Given the description of an element on the screen output the (x, y) to click on. 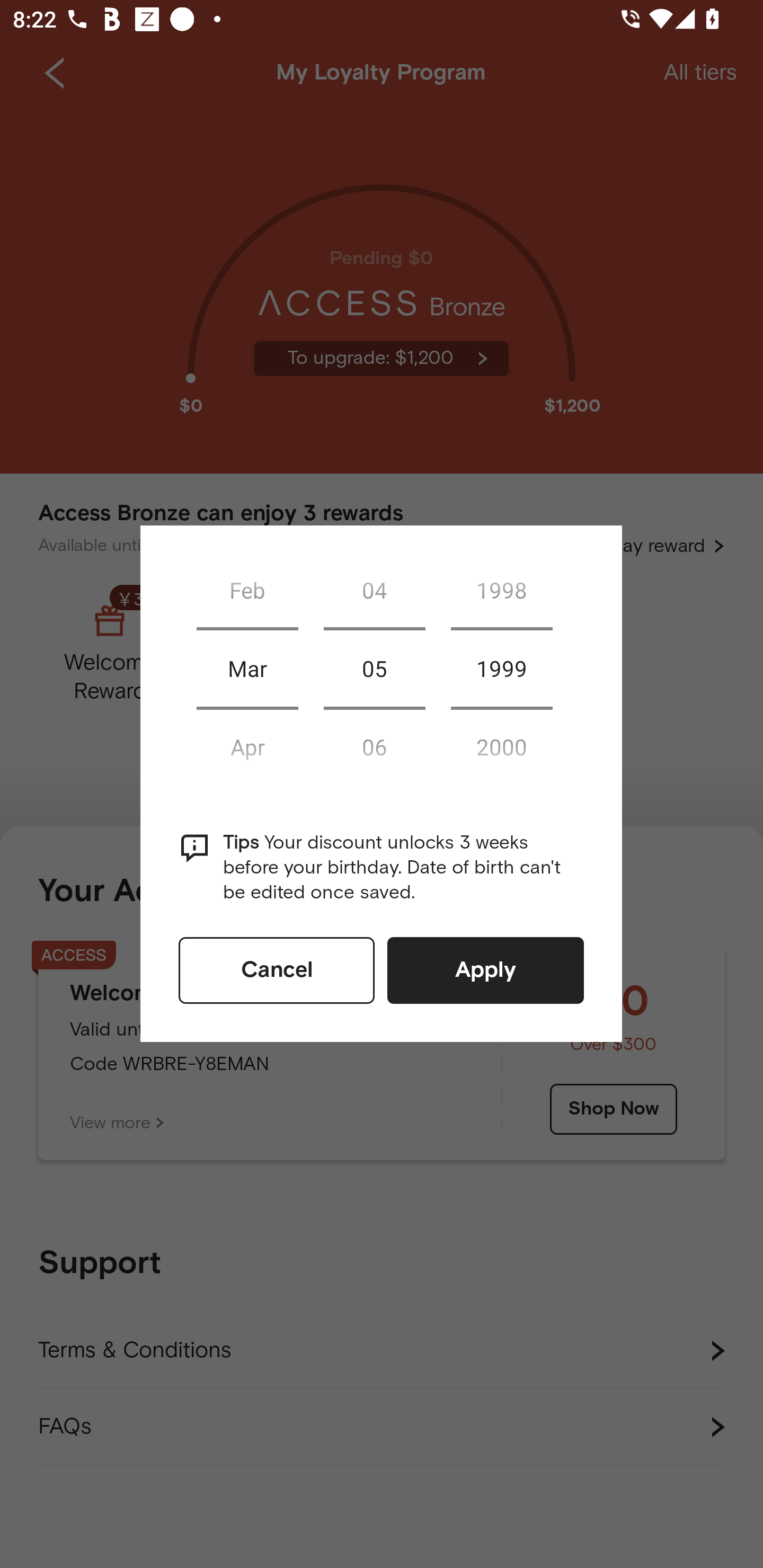
Feb (247, 590)
04 (374, 590)
1998 (501, 590)
Mar (247, 668)
05 (374, 668)
1999 (501, 668)
Apr (247, 746)
06 (374, 746)
2000 (501, 746)
Cancel (276, 970)
Apply (485, 970)
